Given the description of an element on the screen output the (x, y) to click on. 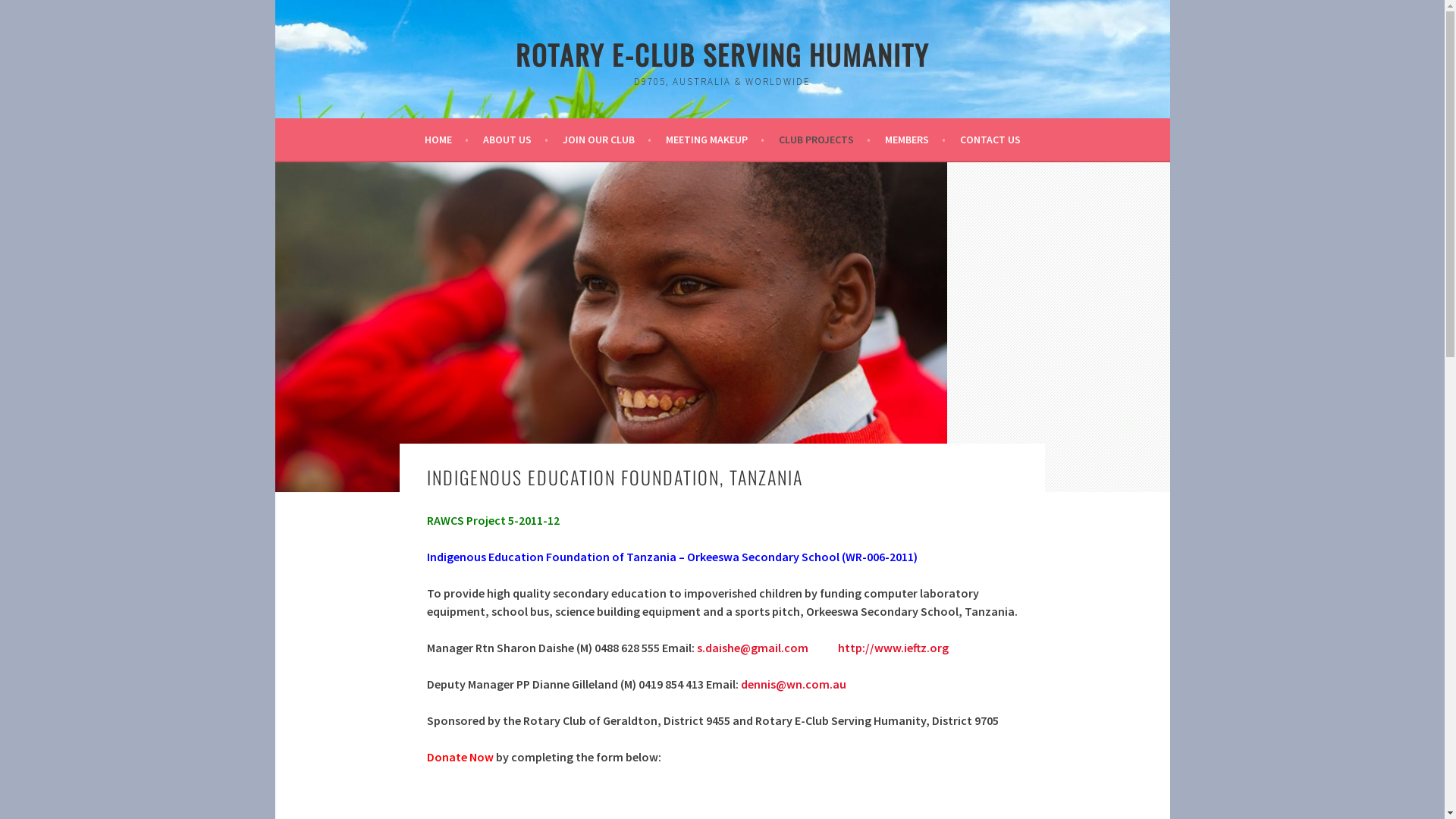
CLUB PROJECTS Element type: text (823, 139)
ROTARY E-CLUB SERVING HUMANITY Element type: text (721, 54)
MEETING MAKEUP Element type: text (714, 139)
http://www.ieftz.org Element type: text (892, 647)
ABOUT US Element type: text (514, 139)
CONTACT US Element type: text (990, 139)
JOIN OUR CLUB Element type: text (606, 139)
HOME Element type: text (446, 139)
MEMBERS Element type: text (914, 139)
s.daishe@gmail.com Element type: text (752, 647)
dennis@wn.com.au Element type: text (793, 683)
